Given the description of an element on the screen output the (x, y) to click on. 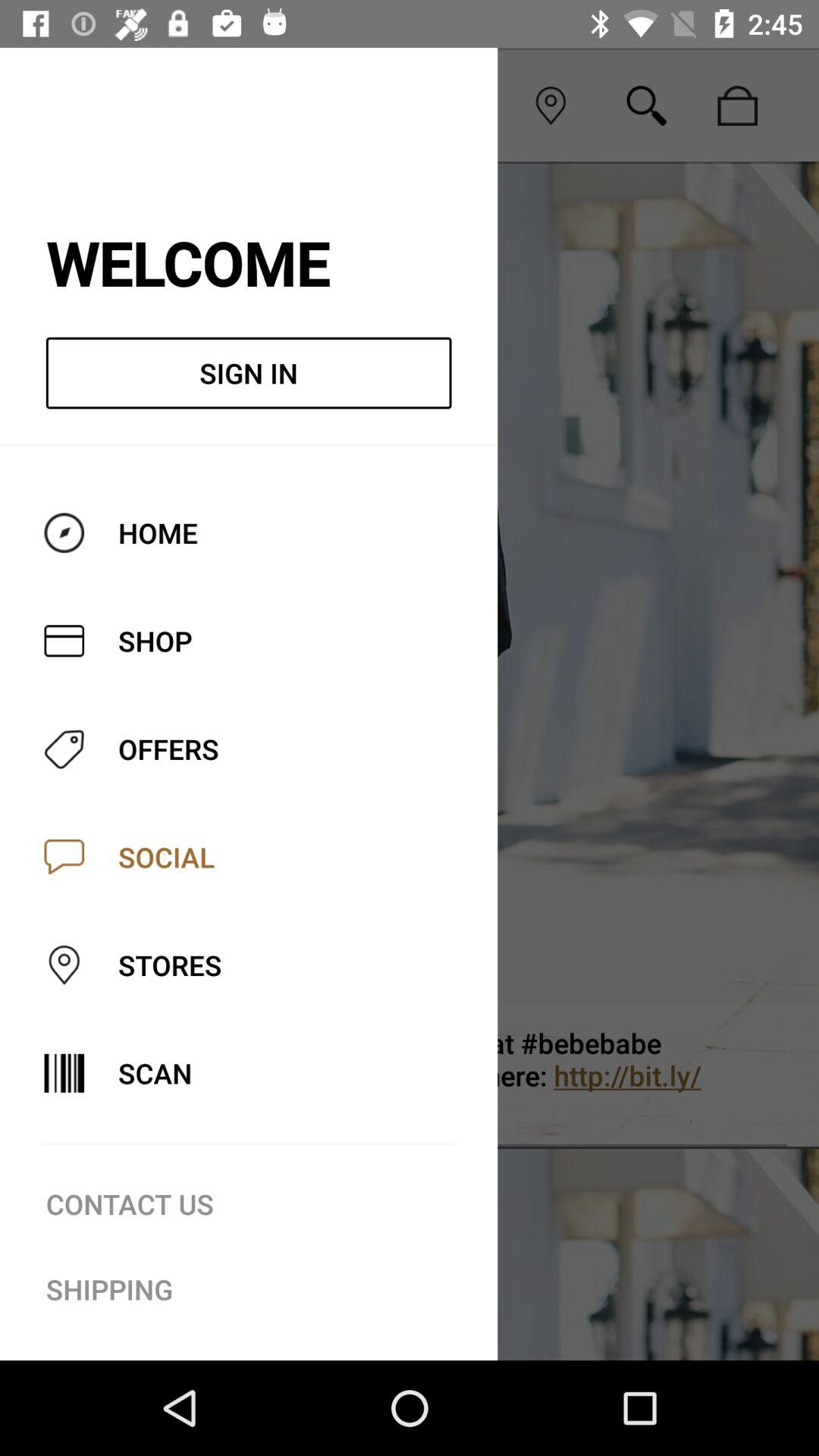
launch icon below the social (472, 1075)
